Given the description of an element on the screen output the (x, y) to click on. 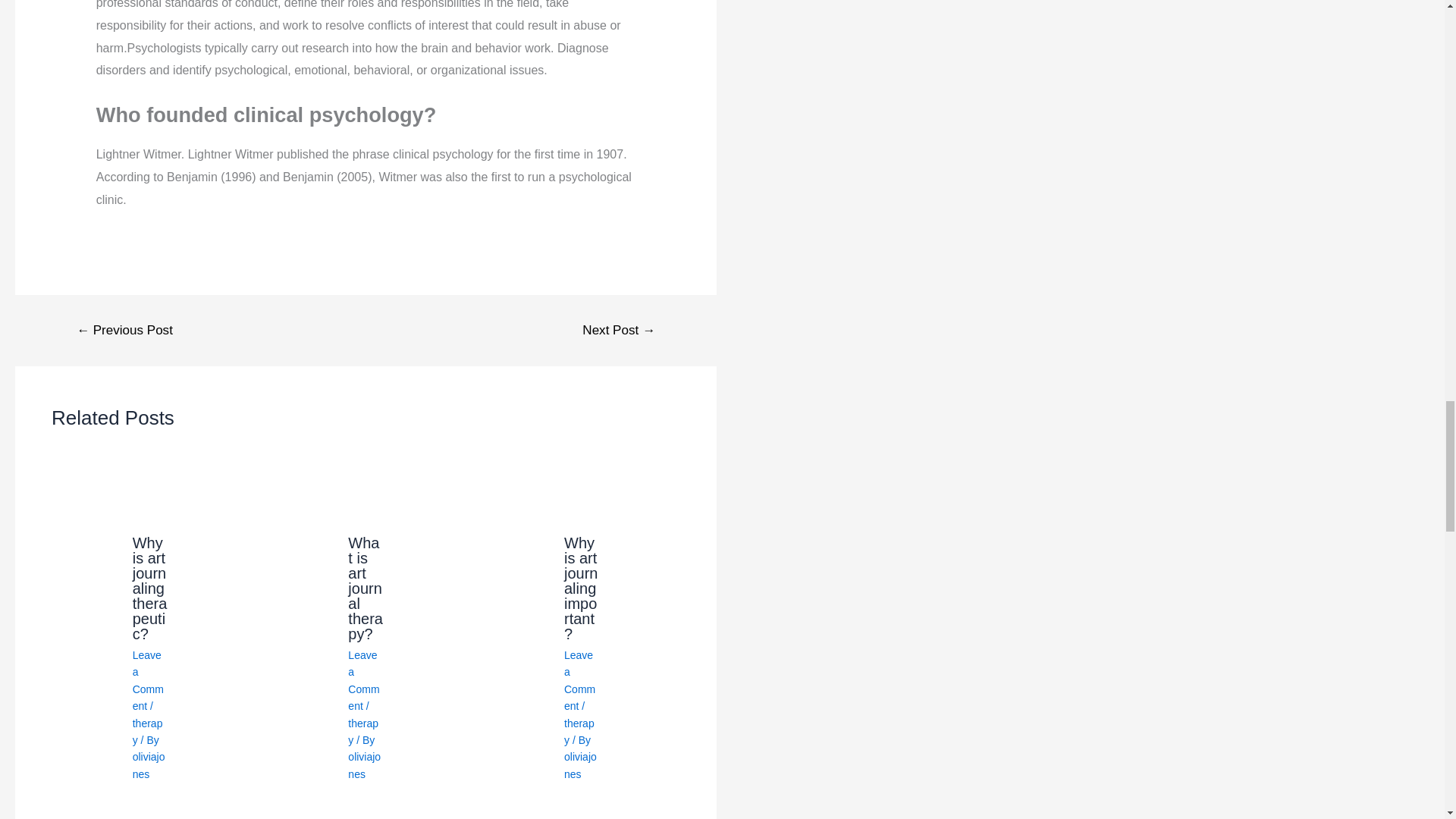
oliviajones (363, 765)
View all posts by oliviajones (148, 765)
oliviajones (148, 765)
View all posts by oliviajones (363, 765)
View all posts by oliviajones (580, 765)
therapy (147, 731)
therapy (362, 731)
